Given the description of an element on the screen output the (x, y) to click on. 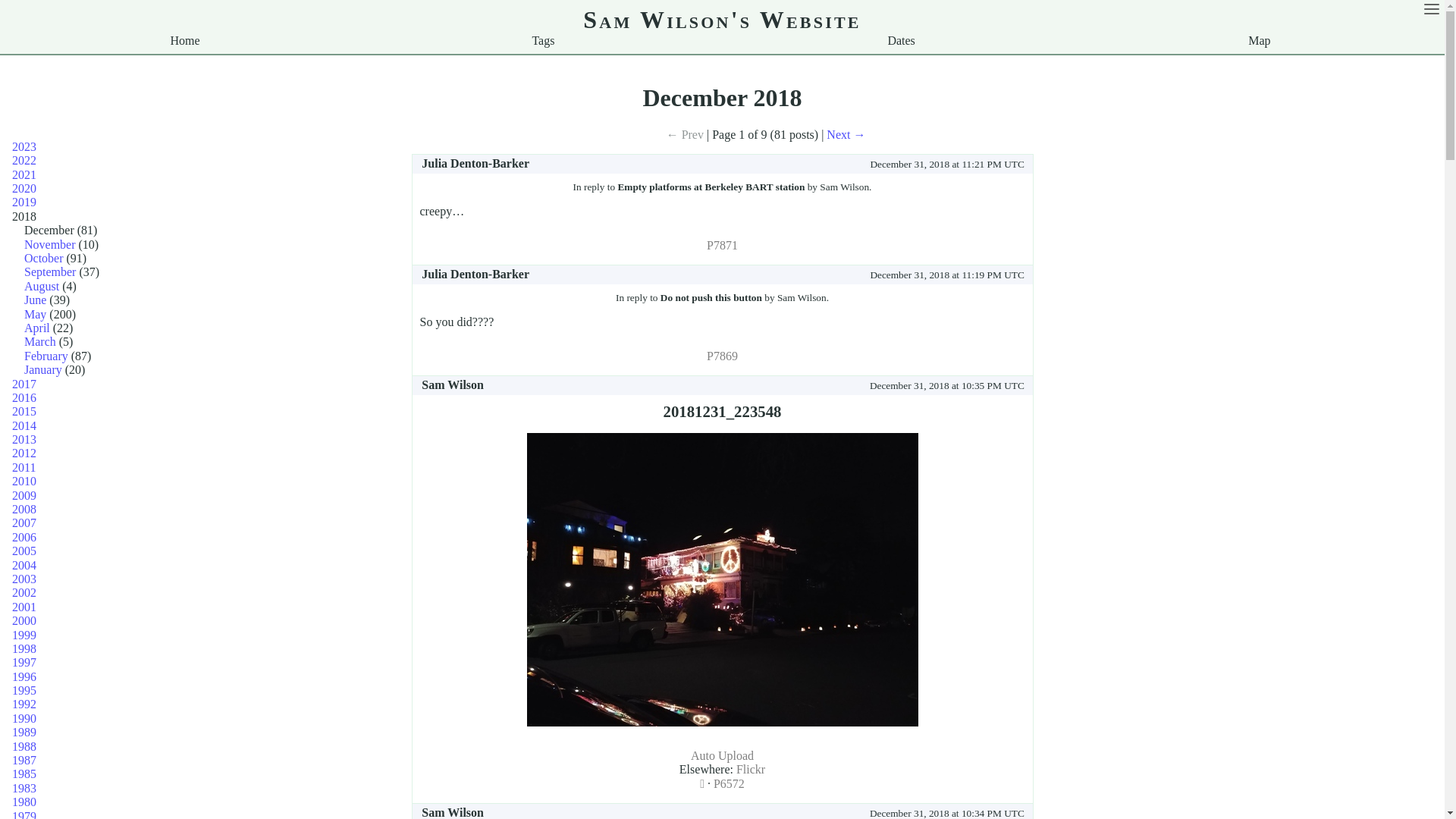
1989 Element type: text (24, 731)
1997 Element type: text (24, 661)
1992 Element type: text (24, 703)
August Element type: text (43, 285)
2021 Element type: text (24, 174)
2022 Element type: text (24, 159)
2013 Element type: text (24, 439)
2002 Element type: text (24, 592)
2011 Element type: text (23, 467)
Tags Element type: text (542, 40)
October Element type: text (45, 257)
2014 Element type: text (24, 425)
2007 Element type: text (24, 522)
1980 Element type: text (24, 801)
1983 Element type: text (24, 787)
P7871 Element type: text (721, 244)
March Element type: text (41, 341)
2010 Element type: text (24, 480)
2001 Element type: text (24, 606)
September Element type: text (51, 271)
1988 Element type: text (24, 746)
December Element type: text (50, 229)
Sam Wilson Element type: text (452, 384)
20181231_223548 Element type: text (721, 411)
2023 Element type: text (24, 146)
2016 Element type: text (24, 397)
1998 Element type: text (24, 648)
2009 Element type: text (24, 495)
December 31, 2018 at 11:21 PM UTC Element type: text (785, 163)
1996 Element type: text (24, 676)
May Element type: text (36, 313)
Flickr Element type: text (750, 768)
1987 Element type: text (24, 759)
2000 Element type: text (24, 620)
P7869 Element type: text (721, 355)
Sam Wilson's Website Element type: text (721, 19)
2012 Element type: text (24, 452)
Auto Upload Element type: text (721, 755)
P6572 Element type: text (728, 783)
1985 Element type: text (24, 773)
Do not push this button Element type: text (711, 297)
April Element type: text (38, 327)
1995 Element type: text (24, 690)
2018 Element type: text (24, 216)
1999 Element type: text (24, 634)
2004 Element type: text (24, 564)
2017 Element type: text (24, 383)
Empty platforms at Berkeley BART station Element type: text (710, 186)
2019 Element type: text (24, 201)
Home Element type: text (185, 40)
January Element type: text (44, 369)
Map Element type: text (1259, 40)
December 31, 2018 at 10:35 PM UTC Element type: text (762, 385)
2008 Element type: text (24, 508)
December 31, 2018 at 11:19 PM UTC Element type: text (785, 274)
2005 Element type: text (24, 550)
2006 Element type: text (24, 536)
February Element type: text (47, 355)
June Element type: text (36, 299)
2020 Element type: text (24, 188)
2015 Element type: text (24, 410)
November Element type: text (51, 244)
1990 Element type: text (24, 718)
Dates Element type: text (900, 40)
2003 Element type: text (24, 578)
